Given the description of an element on the screen output the (x, y) to click on. 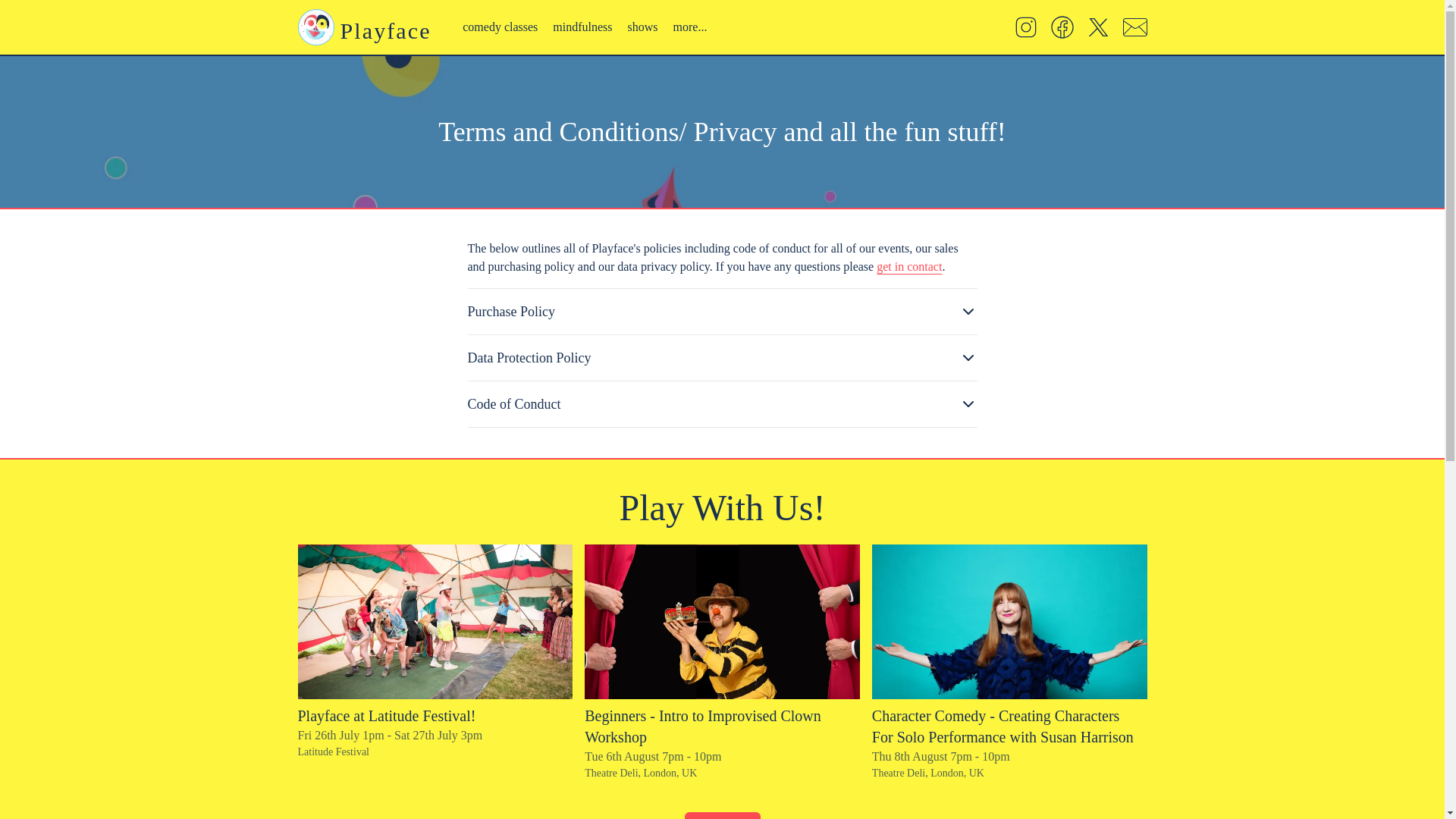
Purchase Policy (721, 311)
All Events (722, 815)
Code of Conduct (721, 403)
Playface Circle Logo (315, 27)
Data Protection Policy (721, 357)
Play Workshop at Glastonbury (434, 621)
more... (689, 27)
Charlie Jackson Clown Crown (722, 621)
Playface (367, 27)
get in contact (909, 266)
Susan Harrison (1009, 621)
mindfulness (582, 27)
community (702, 60)
